Given the description of an element on the screen output the (x, y) to click on. 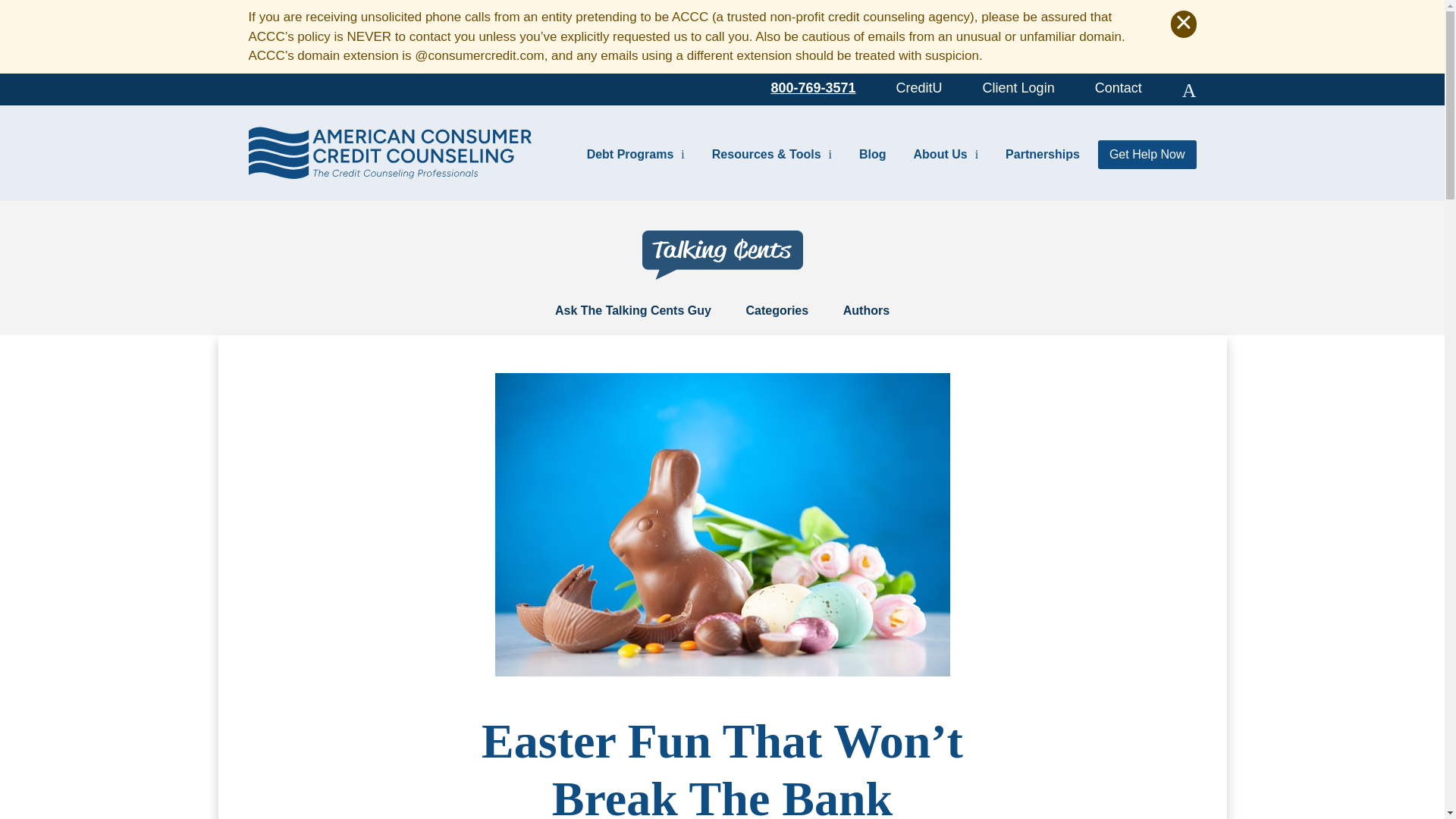
Debt Programs (635, 153)
Search (1189, 88)
Client Login (1018, 87)
800-769-3571 (813, 87)
CreditU (919, 87)
Contact (1117, 87)
